Given the description of an element on the screen output the (x, y) to click on. 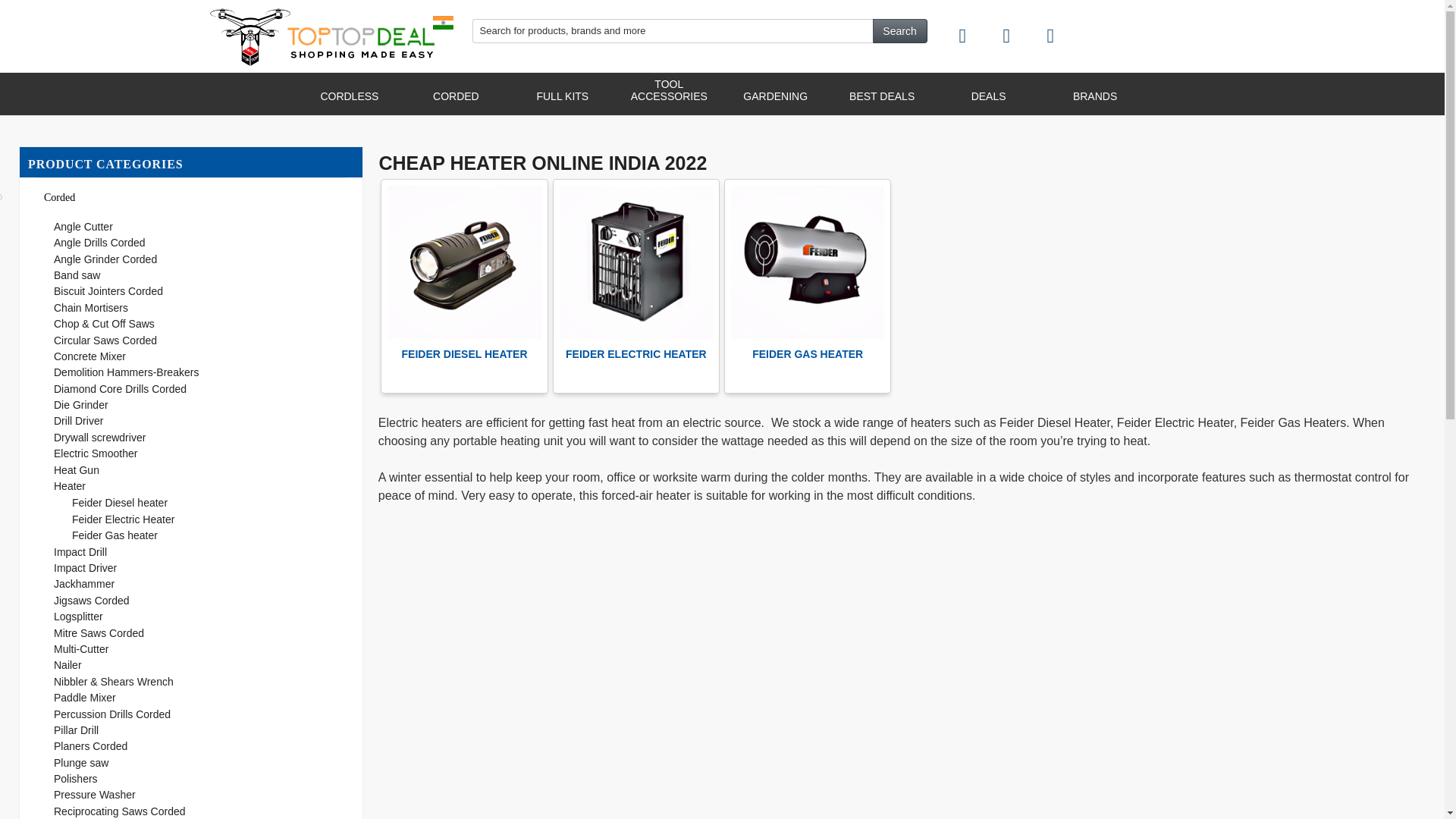
Drywall screwdriver (99, 437)
BRANDS (1095, 96)
Search (899, 30)
Circular Saws Corded (105, 340)
CORDED (455, 96)
GARDENING (775, 96)
Chain Mortisers (90, 307)
Heat Gun (76, 469)
Band saw (76, 275)
DEALS (989, 96)
